Given the description of an element on the screen output the (x, y) to click on. 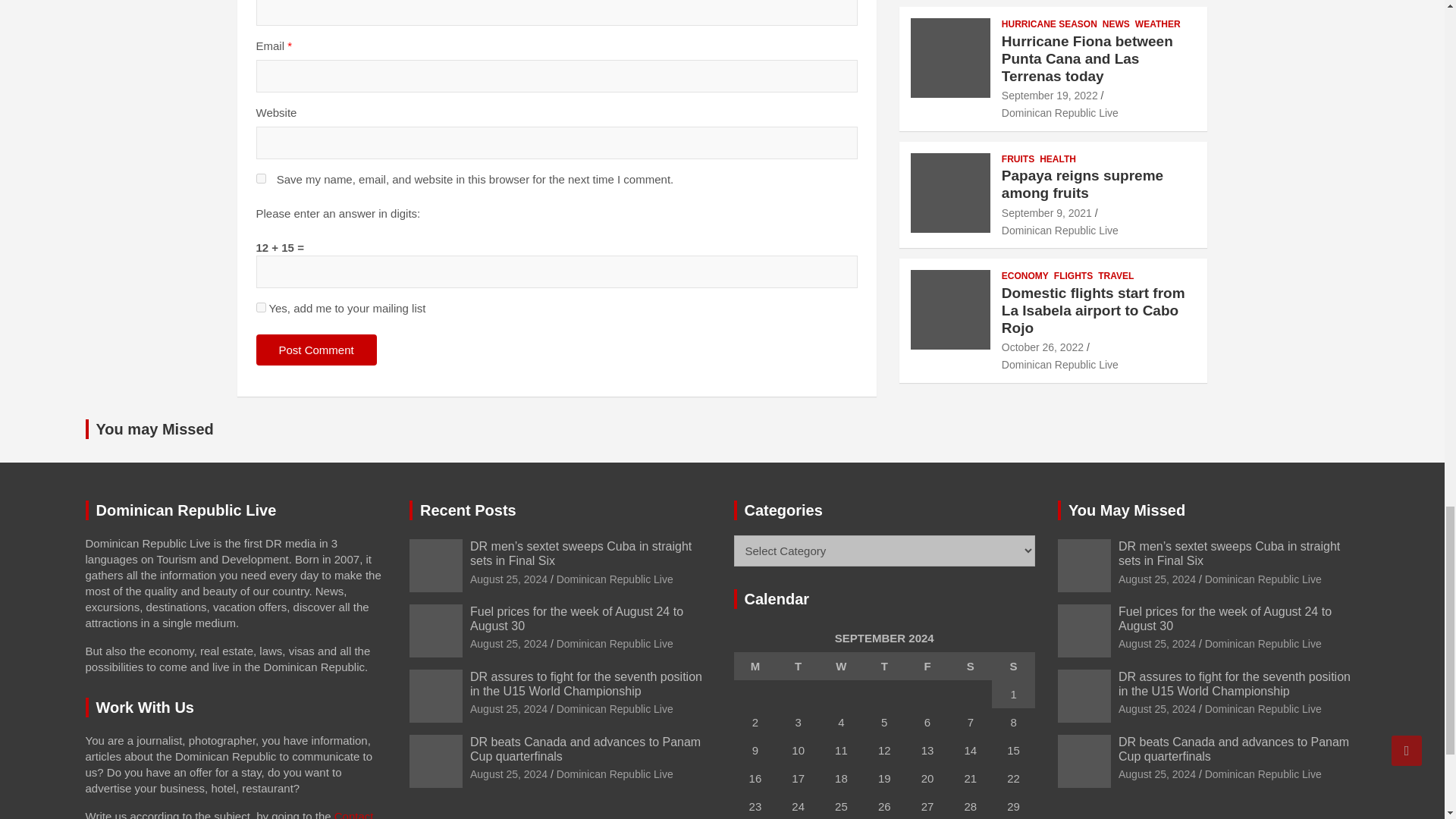
Post Comment (316, 349)
Papaya reigns supreme among fruits (1046, 213)
Domestic flights start from La Isabela airport to Cabo Rojo (1042, 346)
1 (261, 307)
yes (261, 178)
Hurricane Fiona between Punta Cana and Las Terrenas today (1049, 95)
Post Comment (316, 349)
